Given the description of an element on the screen output the (x, y) to click on. 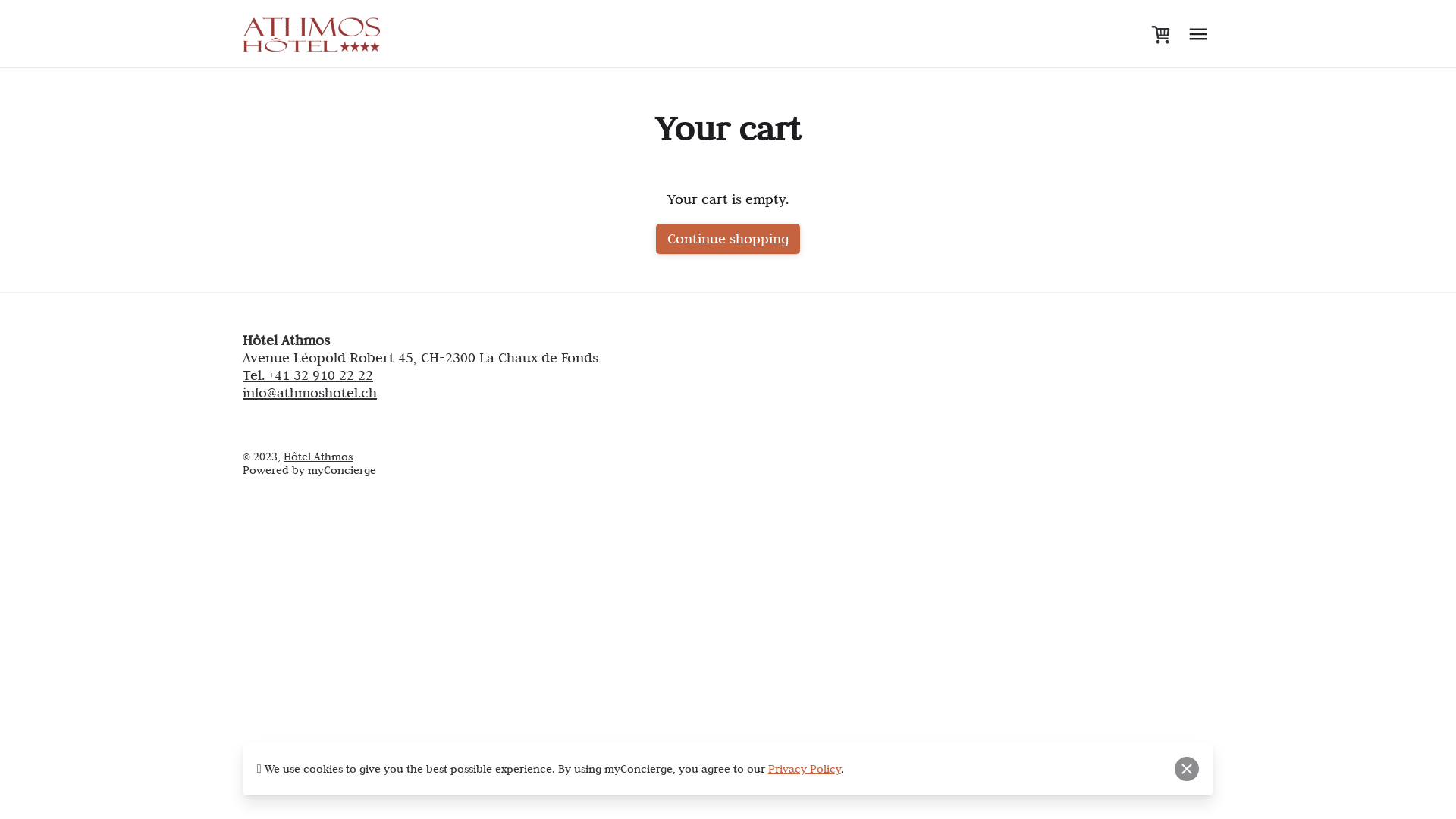
Tel. +41 32 910 22 22 Element type: text (307, 374)
Privacy Policy Element type: text (804, 768)
Powered by myConcierge Element type: text (309, 469)
Continue shopping Element type: text (727, 238)
info@athmoshotel.ch Element type: text (309, 392)
